Given the description of an element on the screen output the (x, y) to click on. 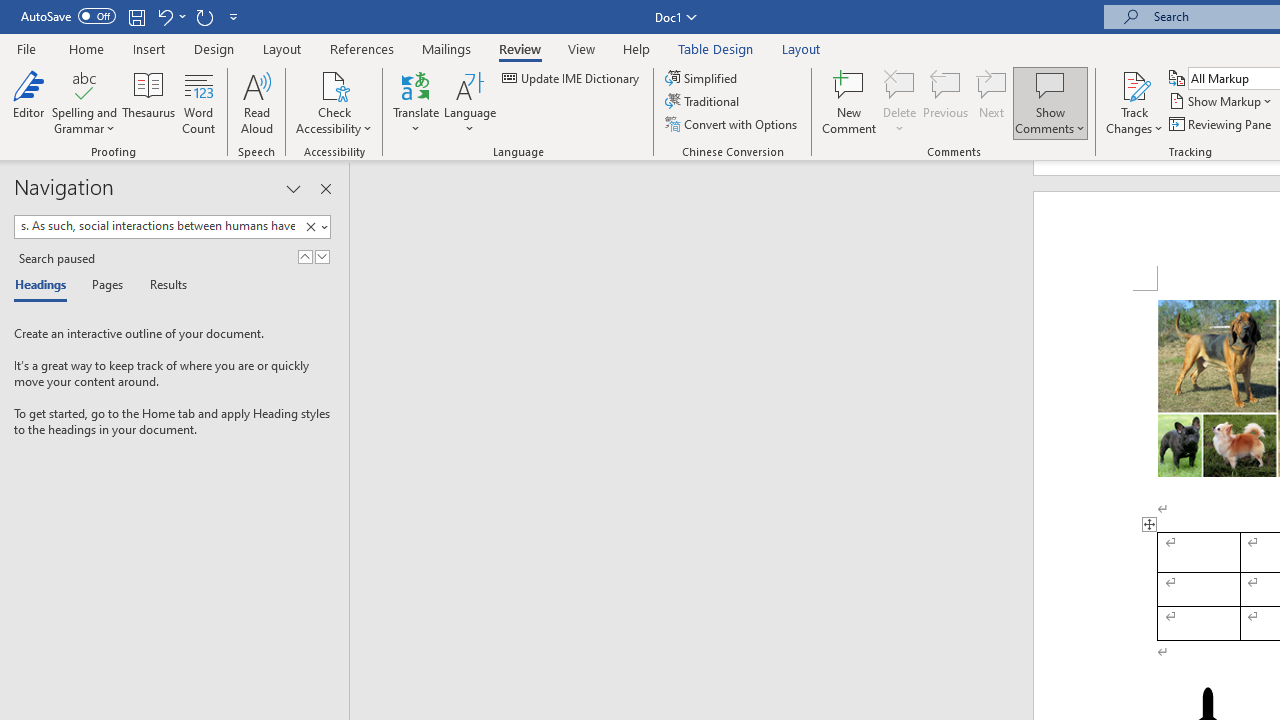
Undo Style (170, 15)
Spelling and Grammar (84, 84)
Show Comments (1050, 84)
Track Changes (1134, 84)
Repeat Style (204, 15)
Word Count (198, 102)
Delete (900, 84)
